Given the description of an element on the screen output the (x, y) to click on. 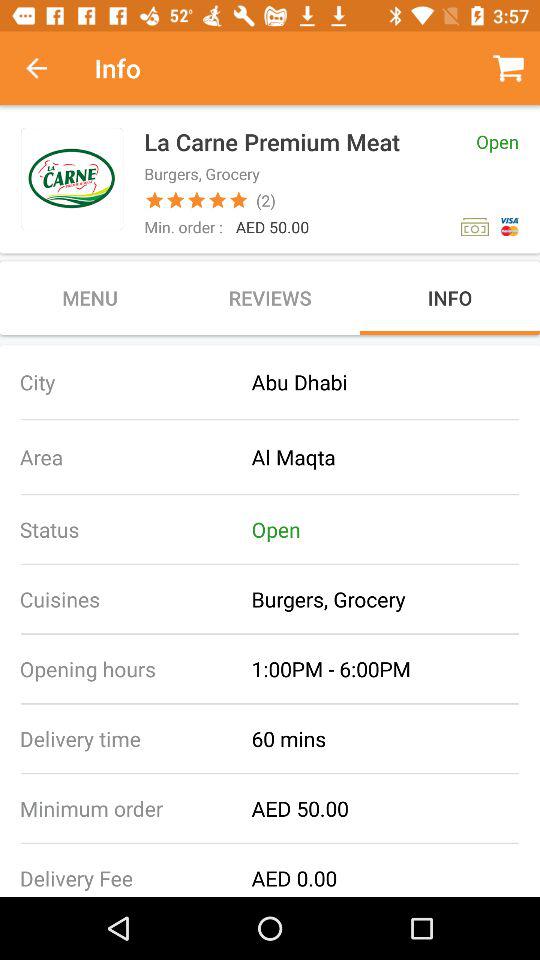
choose the item next to area icon (395, 456)
